Given the description of an element on the screen output the (x, y) to click on. 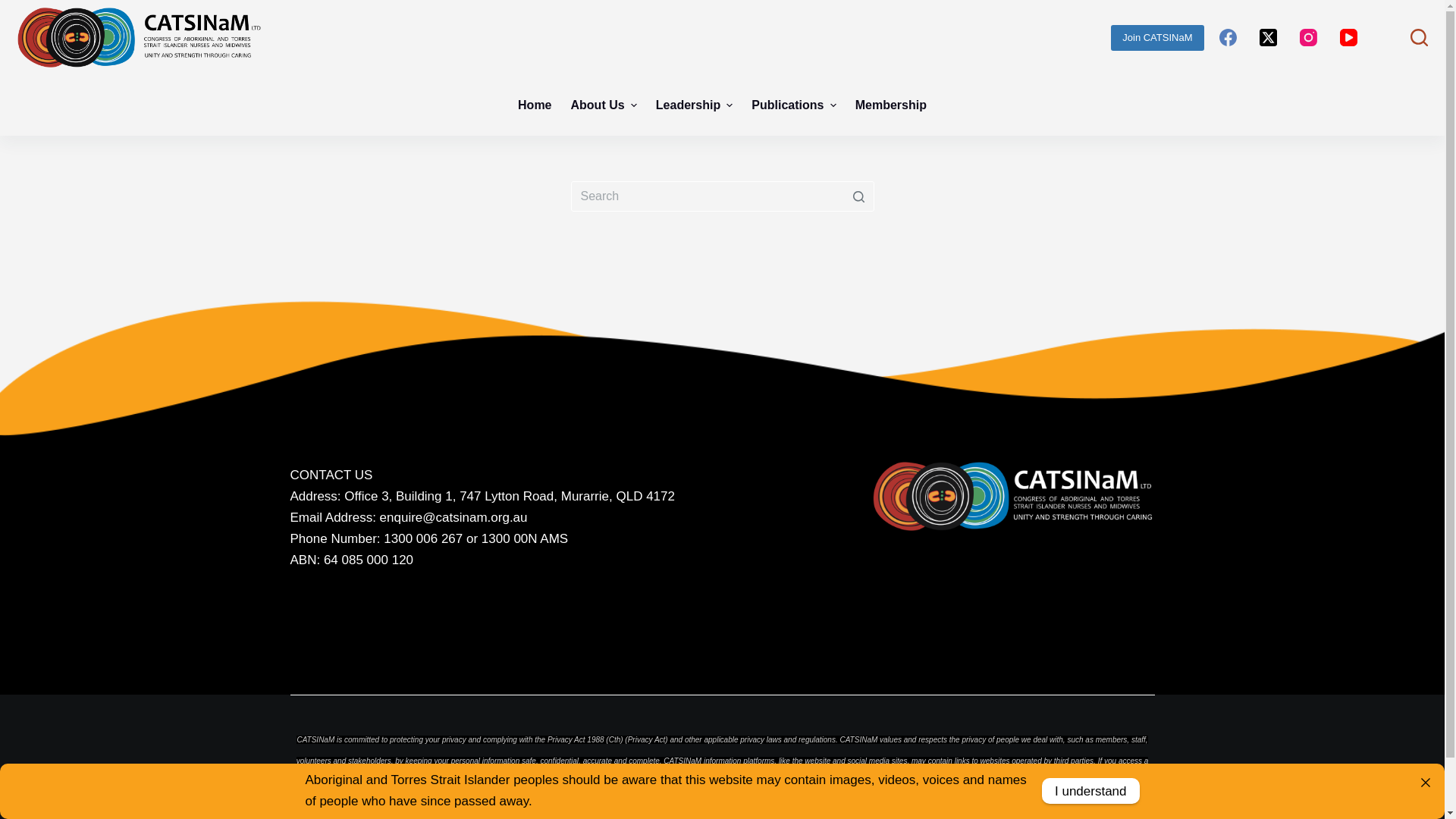
Search for... Element type: hover (721, 196)
Join CATSINaM Element type: text (1156, 37)
Close Element type: hover (1425, 781)
Membership Element type: text (890, 105)
Leadership Element type: text (694, 105)
Skip to content Element type: text (15, 7)
Home Element type: text (534, 105)
About Us Element type: text (603, 105)
Publications Element type: text (793, 105)
I understand Element type: text (1090, 790)
